Given the description of an element on the screen output the (x, y) to click on. 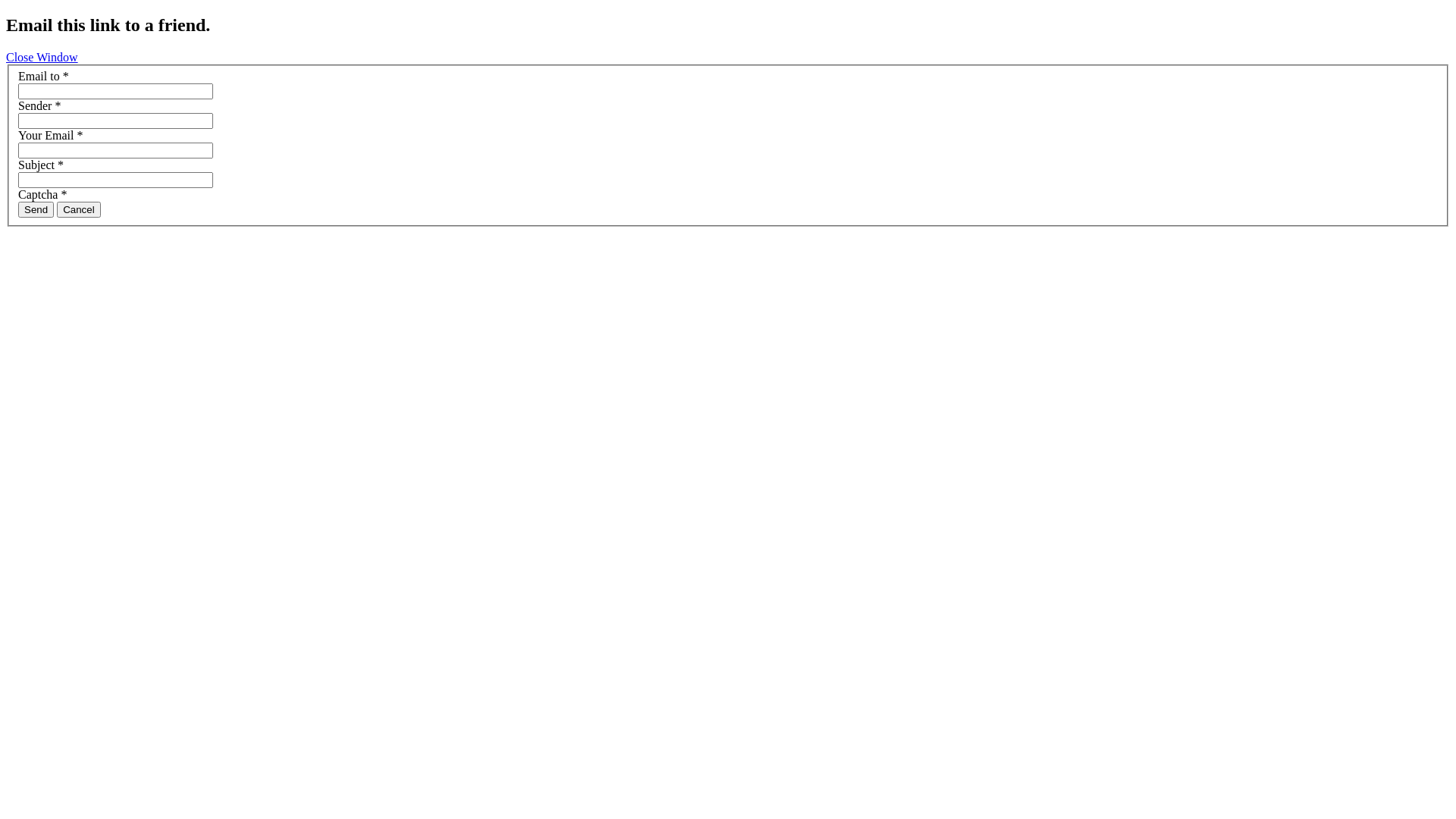
Send Element type: text (35, 209)
Cancel Element type: text (78, 209)
Close Window Element type: text (42, 56)
